Given the description of an element on the screen output the (x, y) to click on. 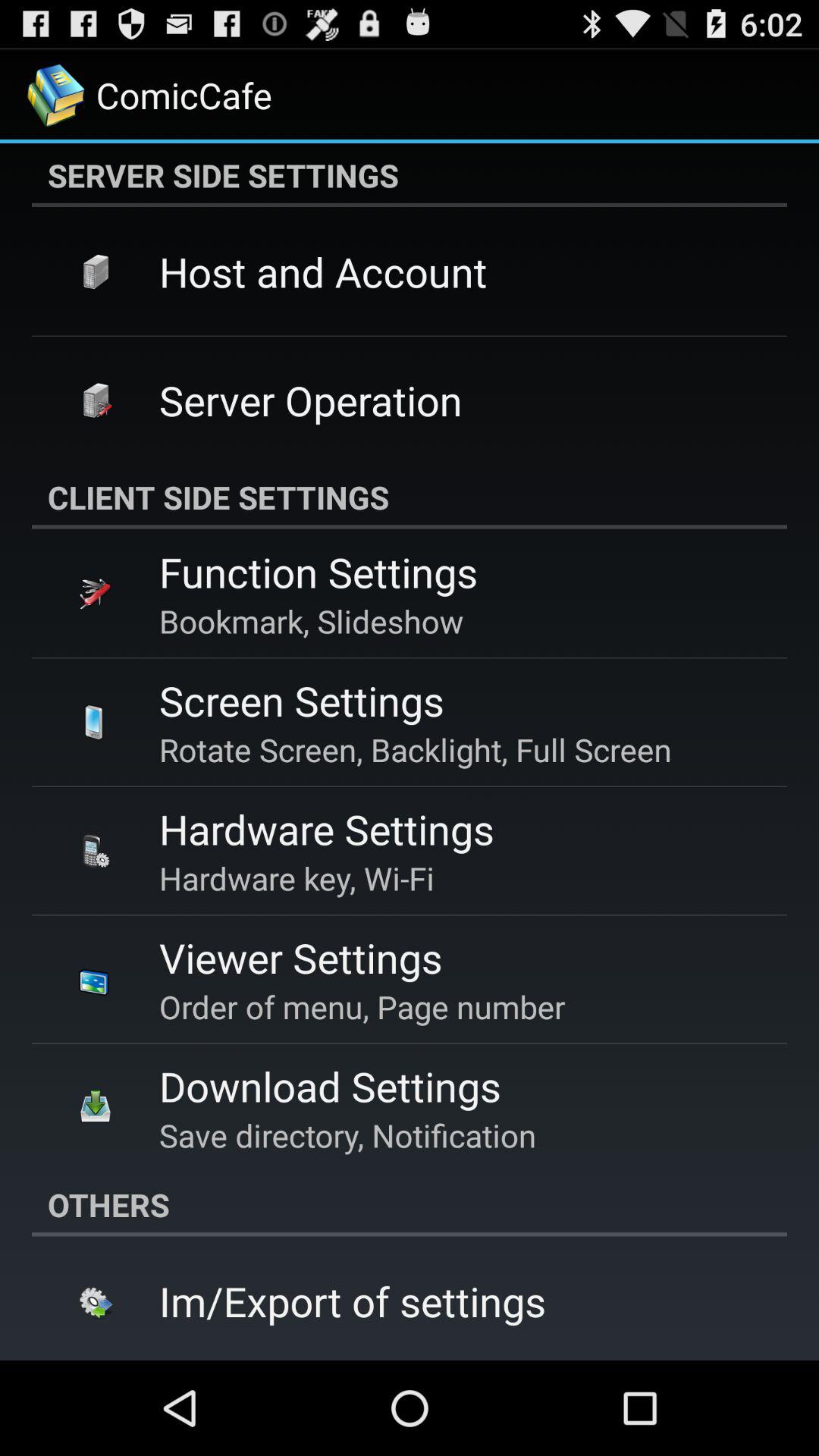
jump until order of menu (362, 1006)
